Given the description of an element on the screen output the (x, y) to click on. 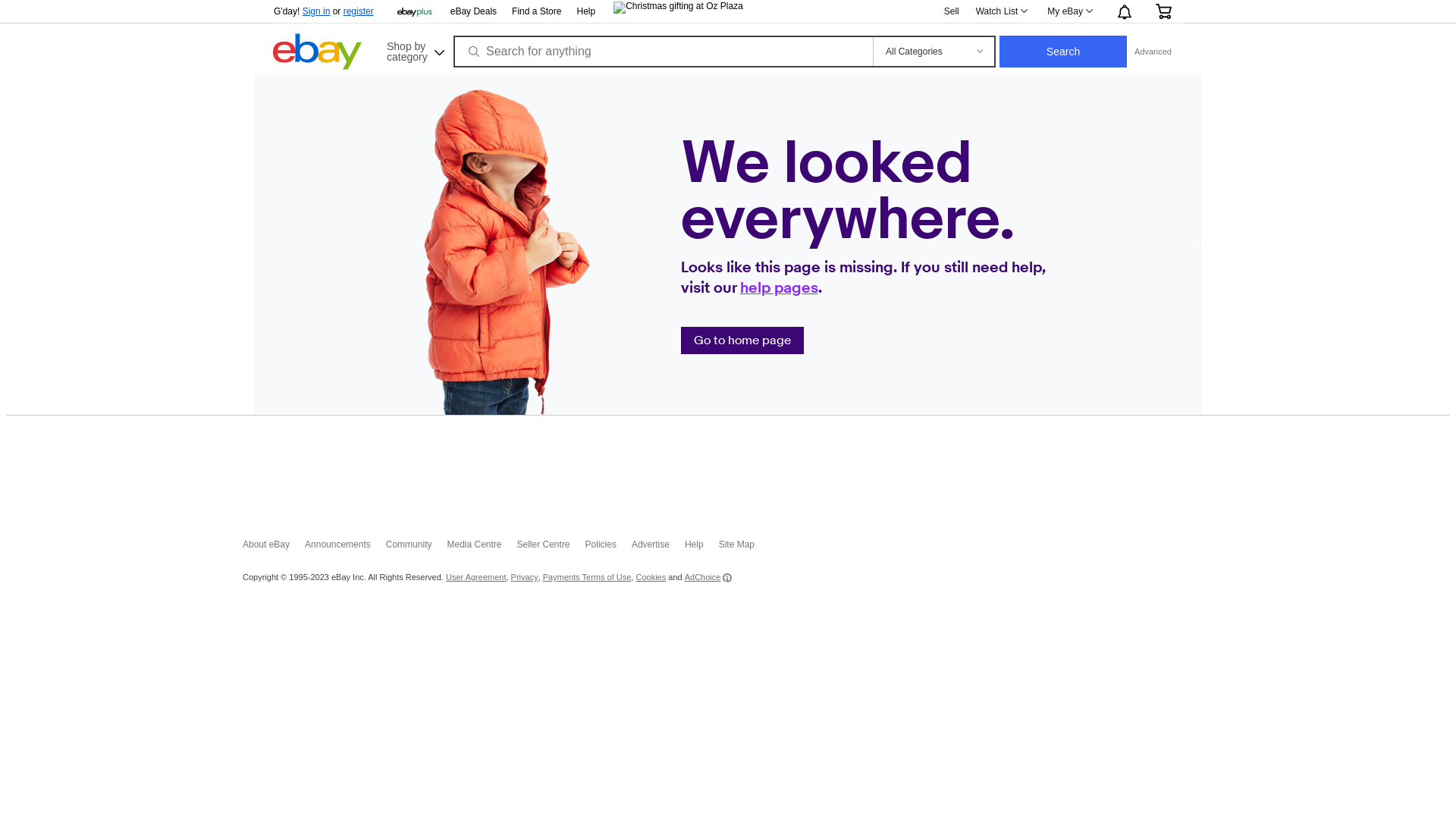
Watch List Element type: text (1001, 11)
Shop by category Element type: text (413, 49)
Search Element type: text (1062, 51)
Site Map Element type: text (743, 547)
help pages Element type: text (779, 287)
AdChoice Element type: text (708, 577)
Advanced Element type: text (1152, 51)
Notification Element type: text (1123, 10)
Privacy Element type: text (524, 577)
Help Element type: text (585, 11)
ADVERTISEMENT Element type: hover (727, 467)
eBay Deals Element type: text (473, 11)
My eBay Element type: text (1068, 11)
Go to home page Element type: text (741, 340)
load bk Element type: hover (273, 84)
Policies Element type: text (608, 547)
Announcements Element type: text (344, 547)
register Element type: text (358, 11)
Cookies Element type: text (650, 577)
Sell Element type: text (951, 11)
Advertise Element type: text (657, 547)
About eBay Element type: text (273, 547)
Sign in Element type: text (316, 11)
Community Element type: text (416, 547)
Media Centre Element type: text (481, 547)
Help Element type: text (701, 547)
User Agreement Element type: text (475, 577)
Find a Store Element type: text (536, 11)
Seller Centre Element type: text (551, 547)
Payments Terms of Use Element type: text (586, 577)
